Given the description of an element on the screen output the (x, y) to click on. 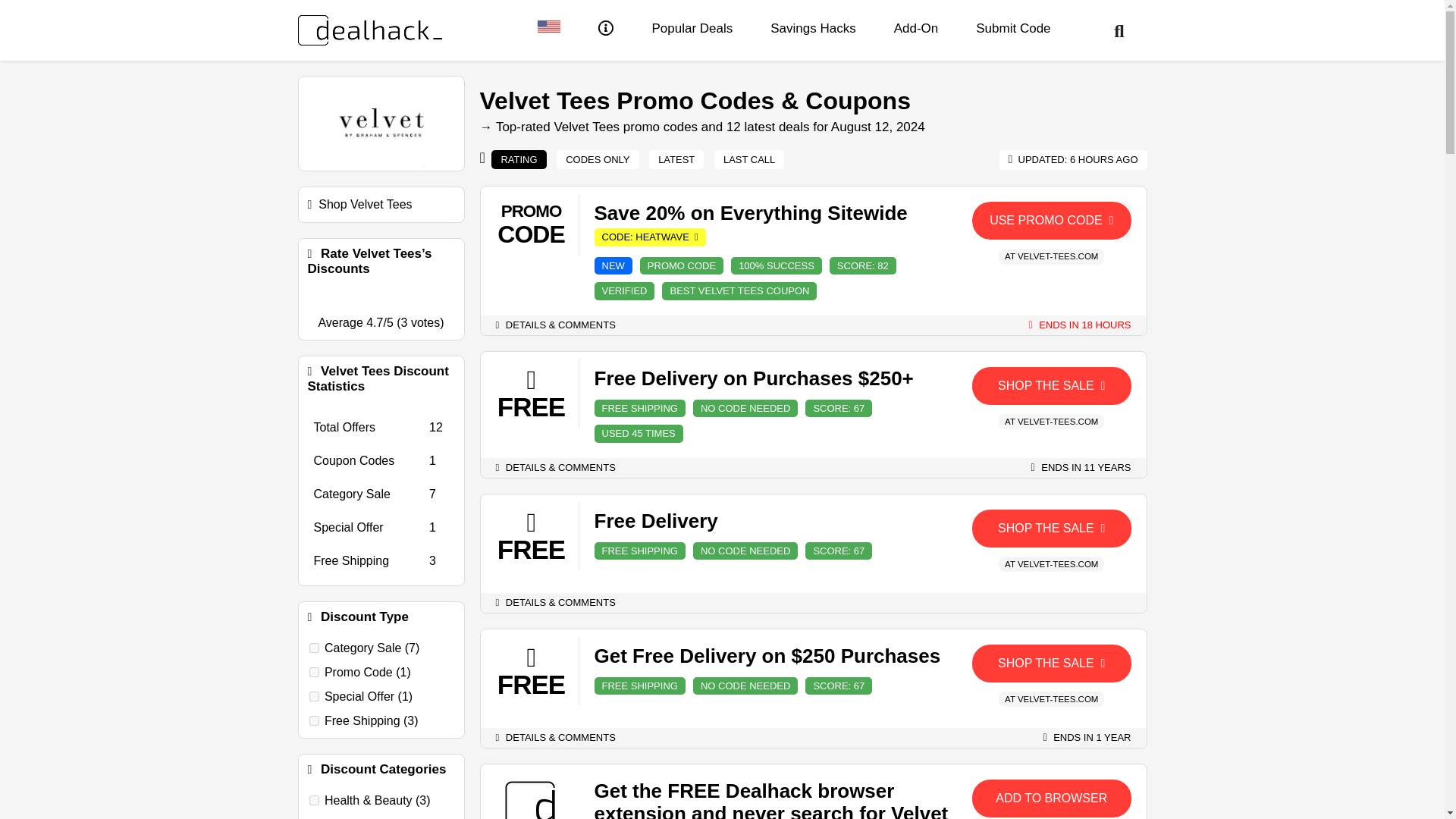
Click to open site (1051, 528)
freeshipping (313, 720)
category (313, 647)
Click to open site (1051, 663)
Click to open site (1051, 798)
Popular Deals (691, 29)
health-beauty (313, 800)
Click to open site (1051, 385)
See offer details or comment on Free Delivery (555, 602)
coupon-code (313, 672)
